Given the description of an element on the screen output the (x, y) to click on. 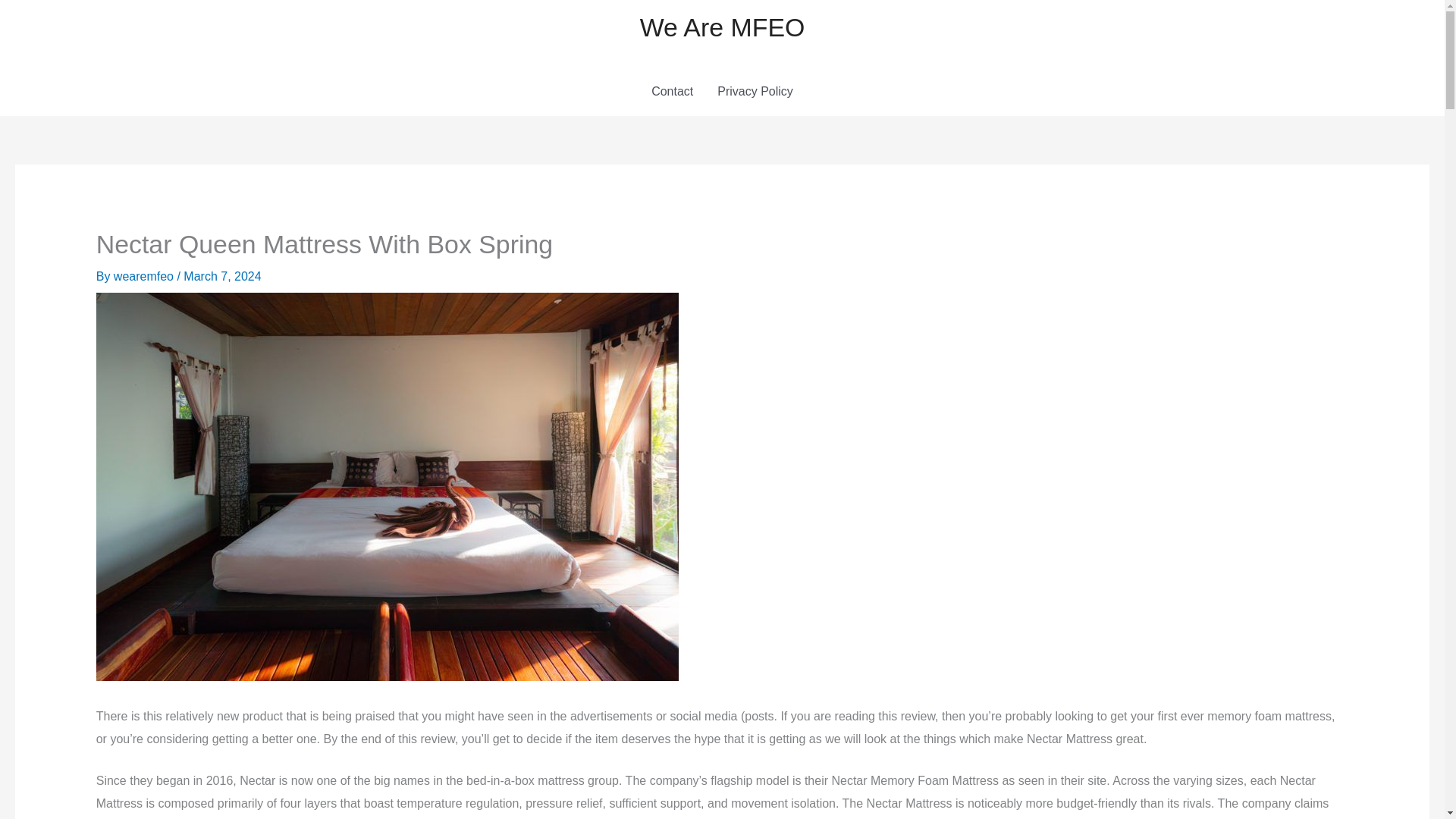
Privacy Policy (754, 91)
We Are MFEO (722, 27)
wearemfeo (145, 276)
View all posts by wearemfeo (145, 276)
Contact (671, 91)
